Given the description of an element on the screen output the (x, y) to click on. 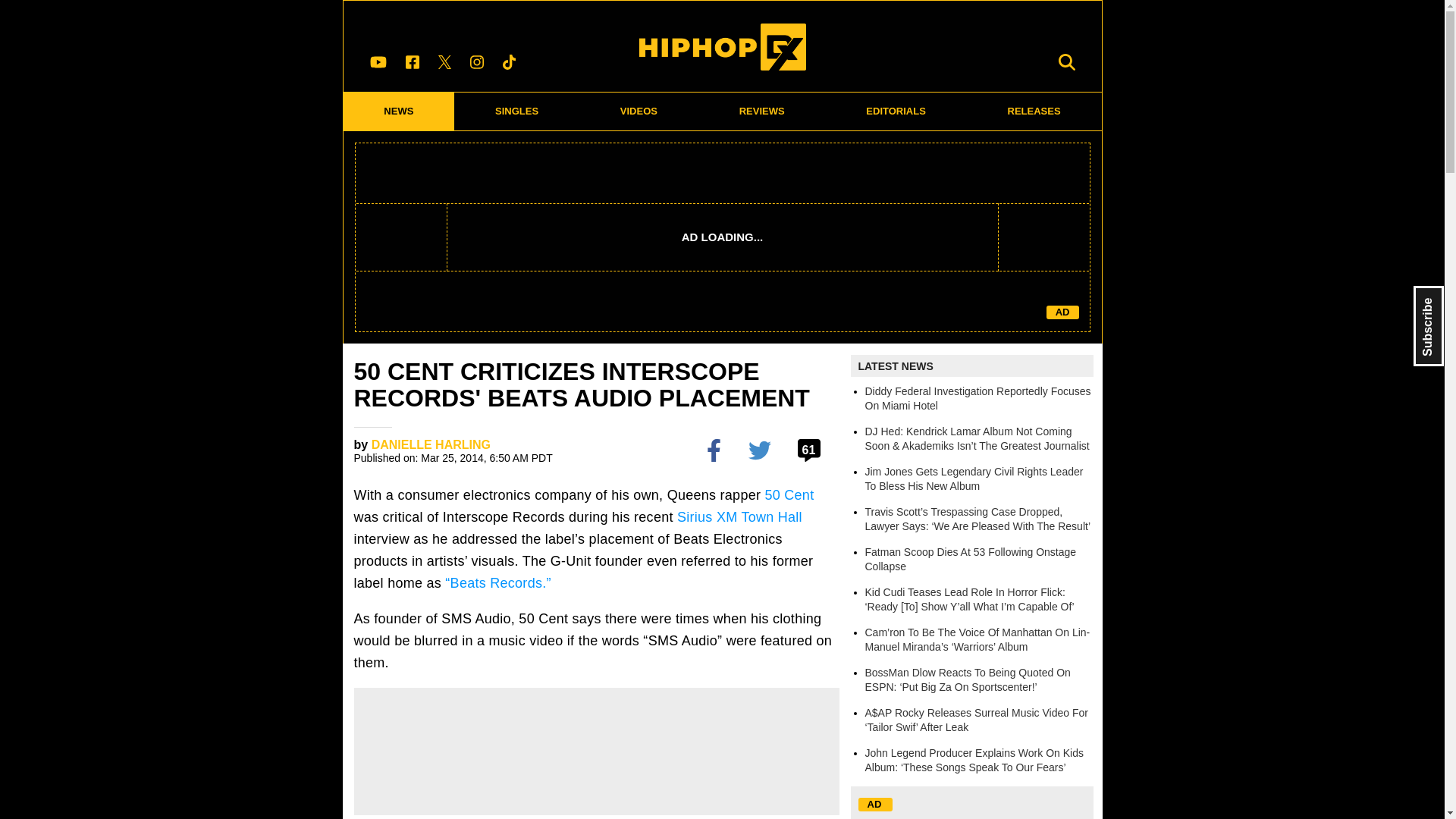
EDITORIALS (895, 111)
RELEASES (1034, 111)
DANIELLE HARLING (430, 444)
SINGLES (516, 111)
REVIEWS (761, 111)
NEWS (398, 111)
VIDEOS (638, 111)
Sirius XM Town Hall (739, 516)
61 (810, 449)
50 Cent (788, 494)
